Given the description of an element on the screen output the (x, y) to click on. 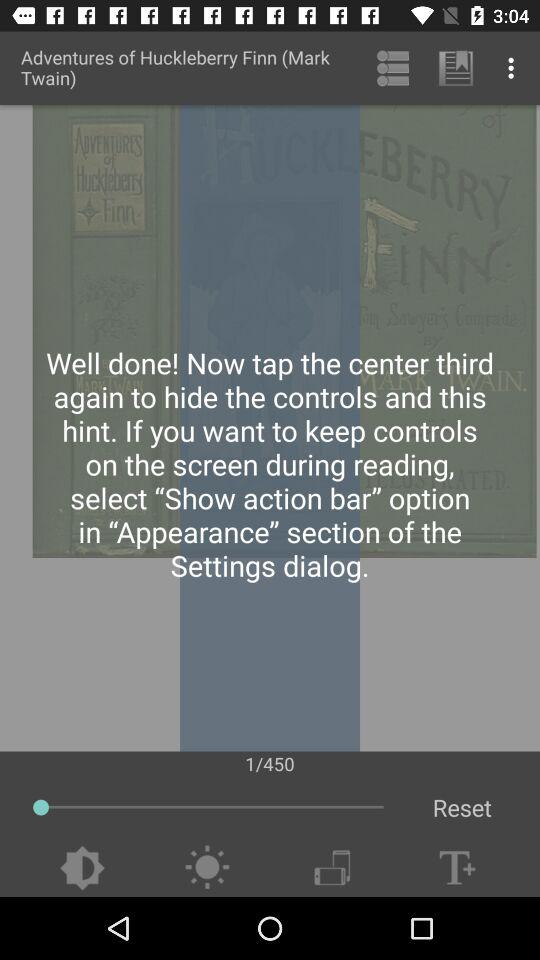
font button (457, 867)
